Given the description of an element on the screen output the (x, y) to click on. 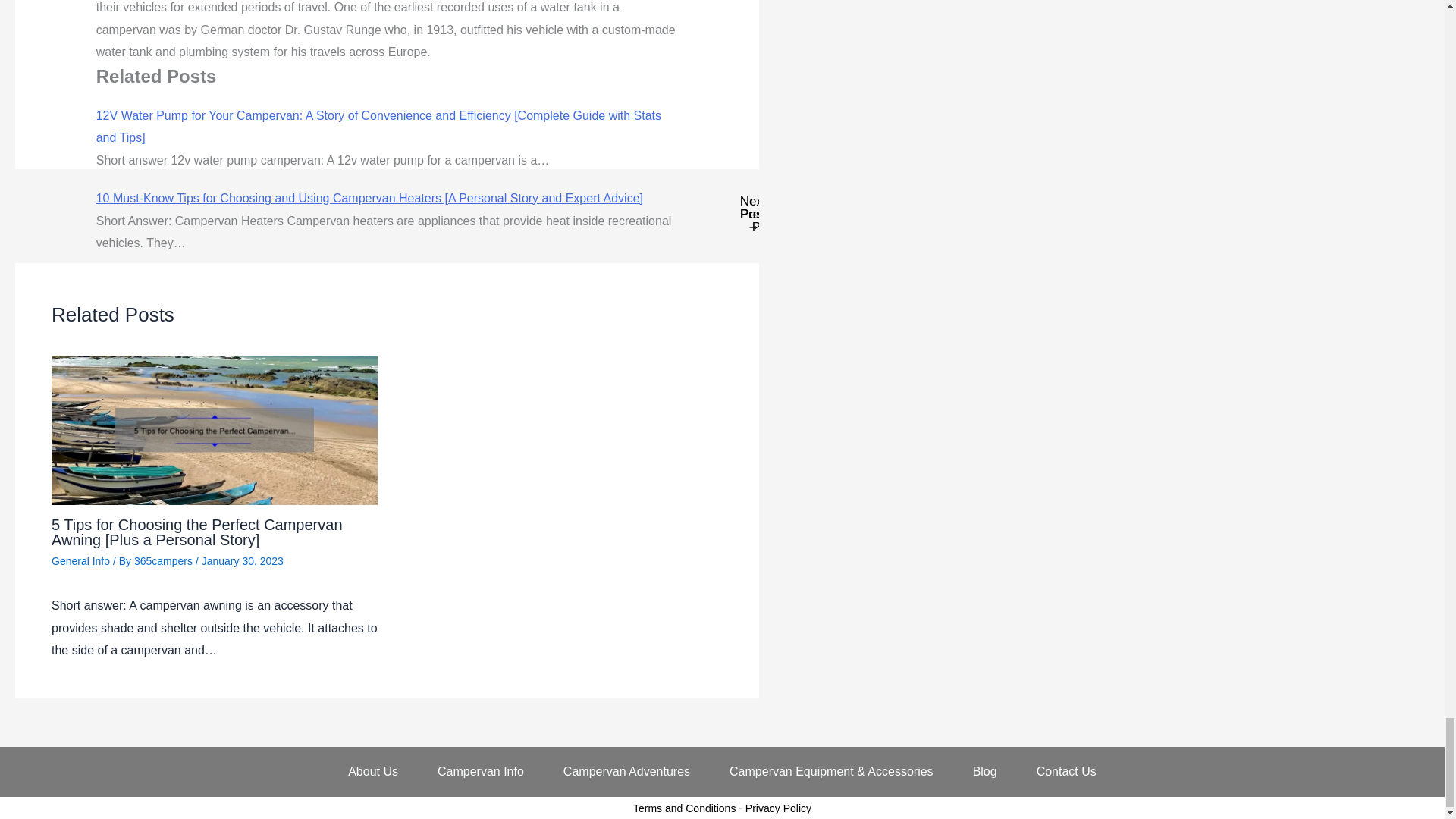
View all posts by 365campers (164, 561)
